Given the description of an element on the screen output the (x, y) to click on. 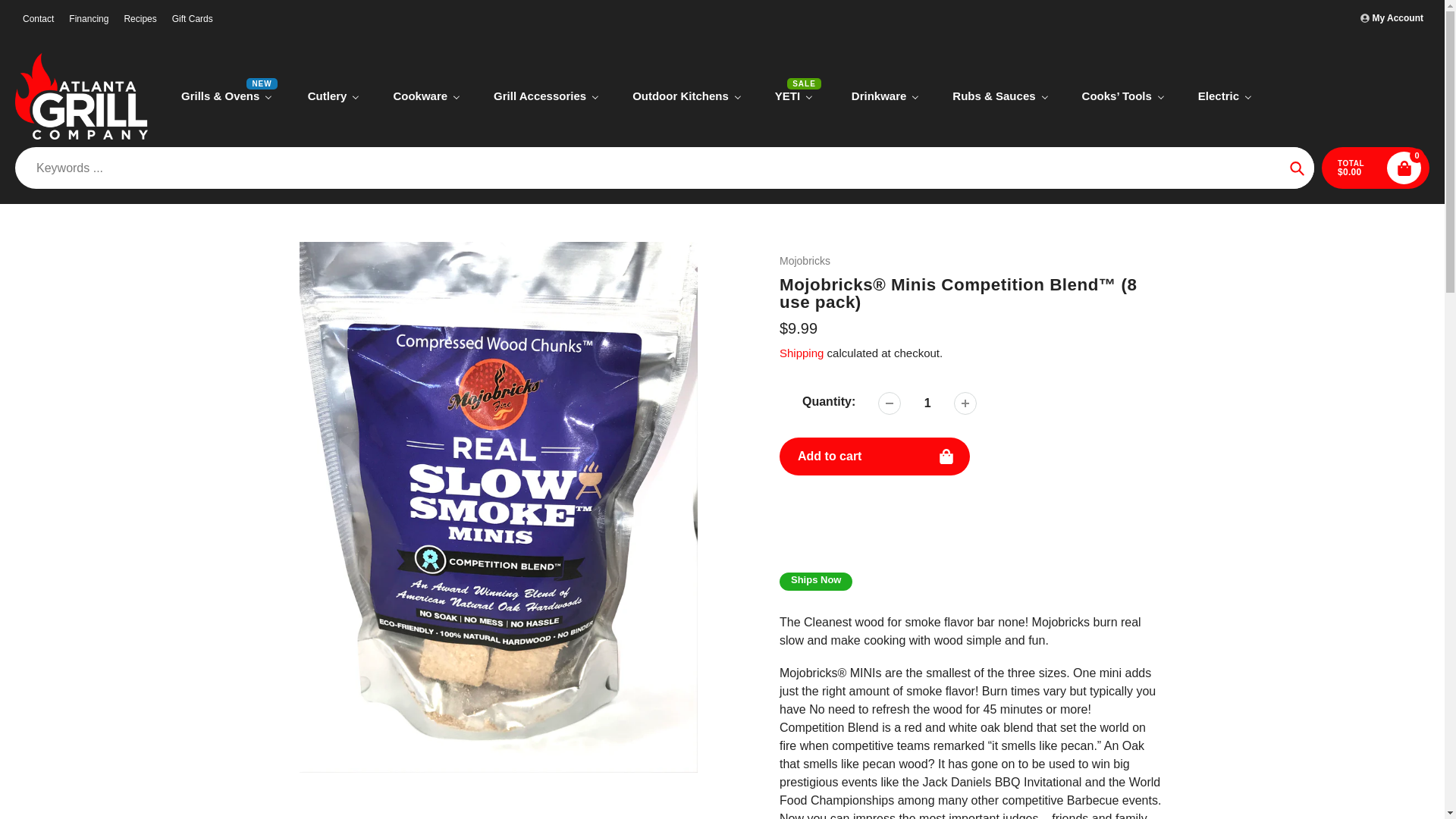
1 (927, 402)
Gift Cards (192, 18)
Cutlery (334, 96)
Financing (88, 18)
Recipes (139, 18)
Contact (37, 18)
My Account (1391, 18)
